Given the description of an element on the screen output the (x, y) to click on. 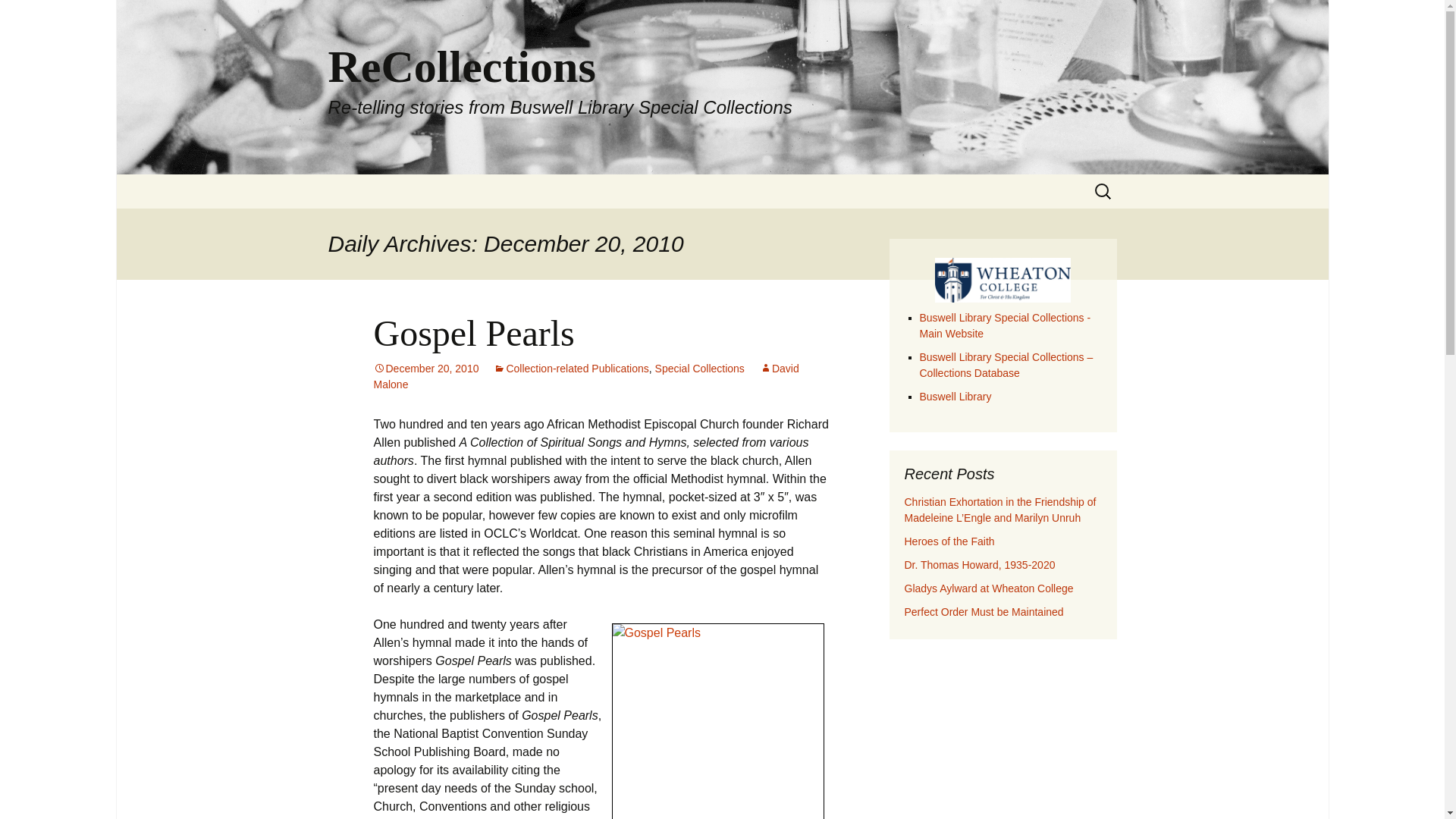
Heroes of the Faith (949, 541)
Buswell Library Special Collections - Main Website (1004, 325)
Permalink to Gospel Pearls (425, 368)
Dr. Thomas Howard, 1935-2020 (979, 564)
Search (18, 15)
Perfect Order Must be Maintained (983, 612)
Buswell Library Special Collections (1004, 325)
Collection-related Publications (570, 368)
Buswell Library (954, 396)
Gospel Pearls (472, 332)
David Malone (584, 376)
Gladys Aylward at Wheaton College (988, 588)
December 20, 2010 (425, 368)
View all posts by David Malone (584, 376)
